Given the description of an element on the screen output the (x, y) to click on. 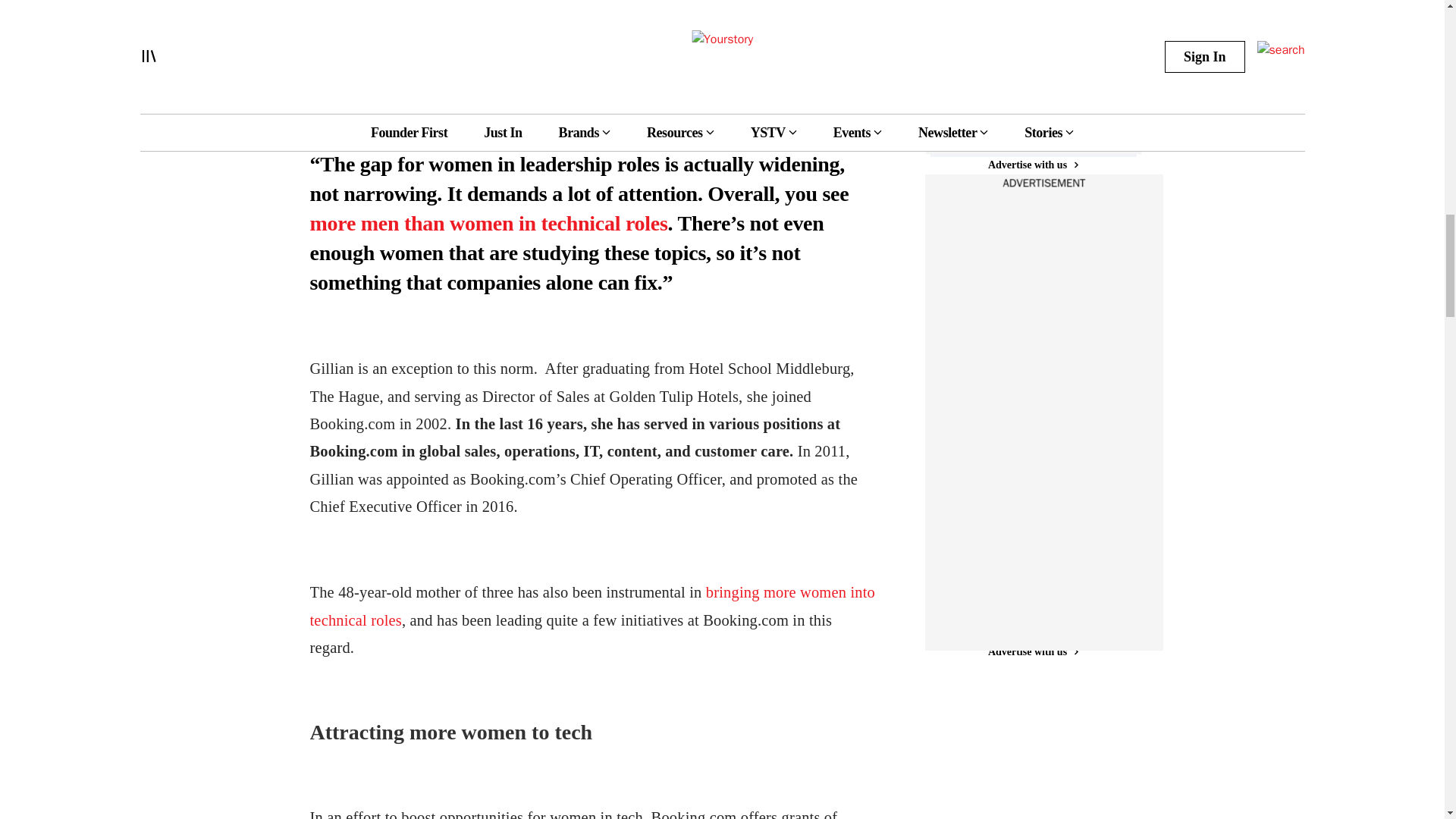
more men than women in technical roles (487, 223)
bringing more women into technical roles (591, 605)
